Given the description of an element on the screen output the (x, y) to click on. 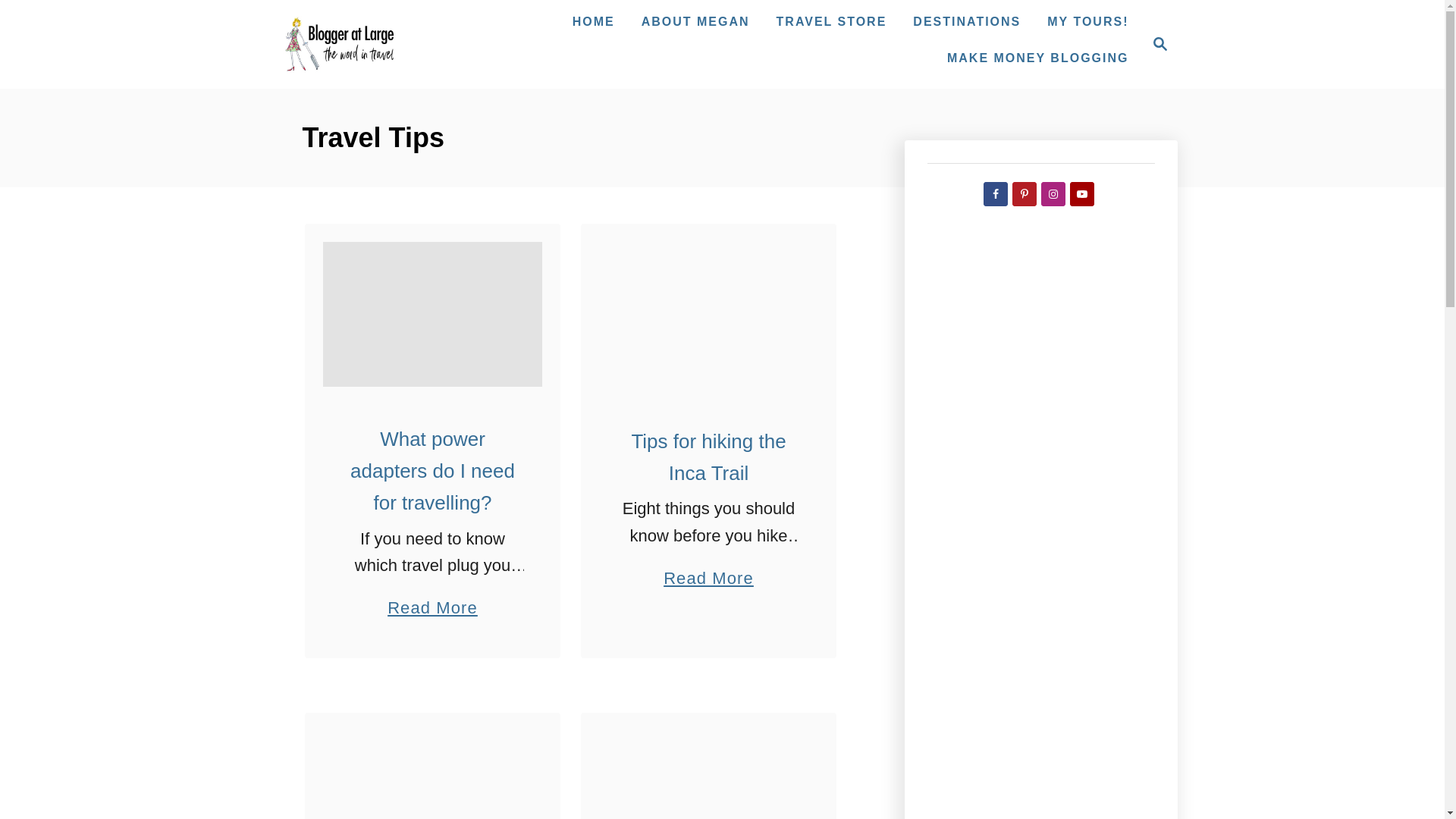
What power adapters do I need for travelling? (432, 313)
DESTINATIONS (966, 21)
Etiquette: How to prepare for a spa treatment (1155, 43)
HOME (432, 775)
Training (593, 21)
Follow on YouTube (1038, 58)
ABOUT MEGAN (1080, 193)
Follow on Facebook (695, 21)
Follow on Pinterest (994, 193)
Skip to Content (1023, 193)
How to pack for a float-plane (831, 21)
Tips for hiking the Inca Trail (708, 775)
Follow on Instagram (708, 315)
